Given the description of an element on the screen output the (x, y) to click on. 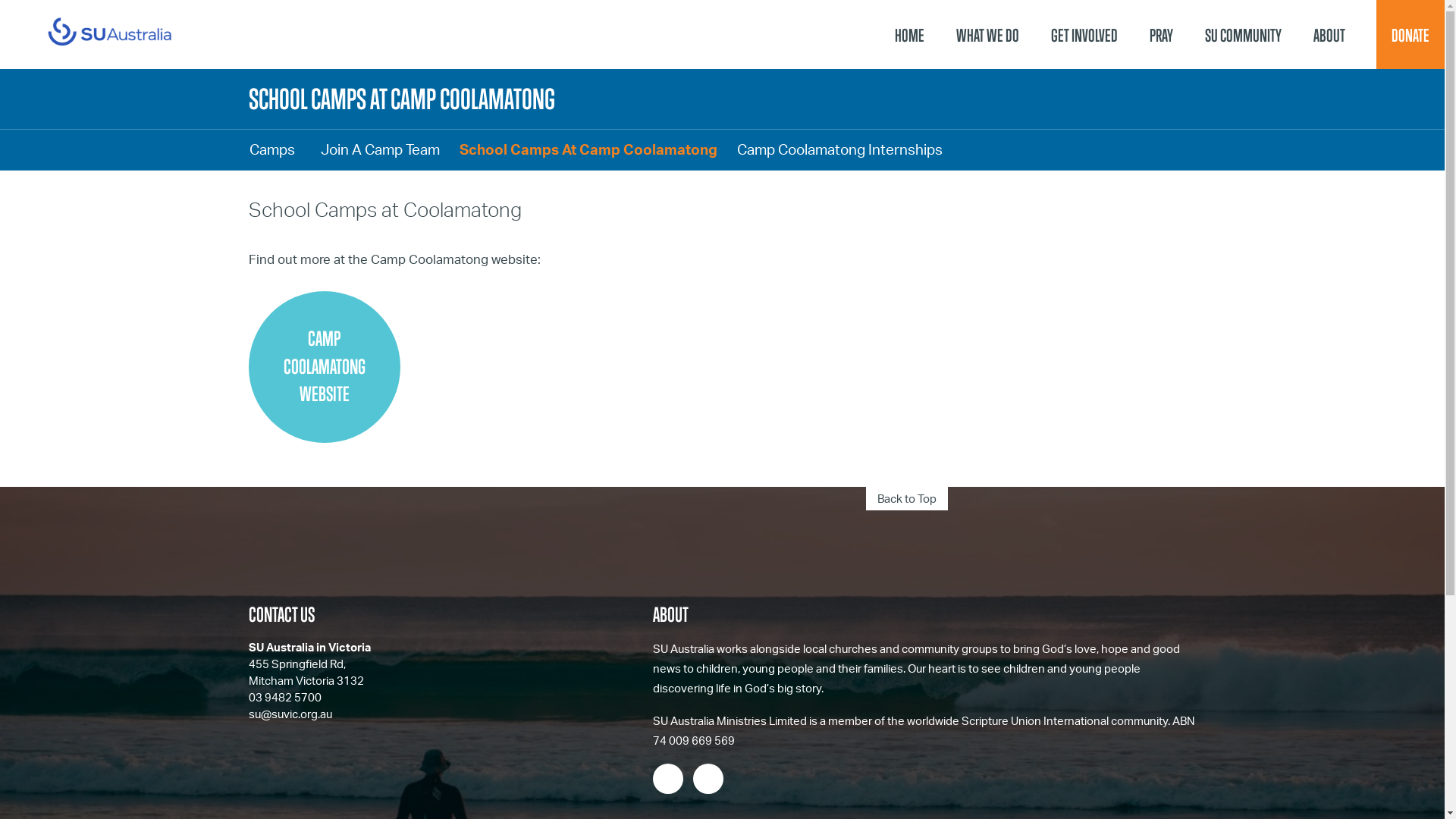
su@suvic.org.au Element type: text (290, 713)
CAMP COOLAMATONG WEBSITE Element type: text (324, 366)
Camp Coolamatong Internships Element type: text (838, 149)
PRAY Element type: text (1161, 34)
ABOUT Element type: text (1329, 34)
03 9482 5700 Element type: text (284, 697)
Camps   Element type: text (274, 149)
Back to Top Element type: text (906, 498)
School Camps At Camp Coolamatong Element type: text (587, 149)
SU COMMUNITY Element type: text (1242, 34)
DONATE Element type: text (1410, 34)
Join A Camp Team Element type: text (380, 149)
WHAT WE DO Element type: text (987, 34)
GET INVOLVED Element type: text (1083, 34)
HOME Element type: text (909, 34)
